Given the description of an element on the screen output the (x, y) to click on. 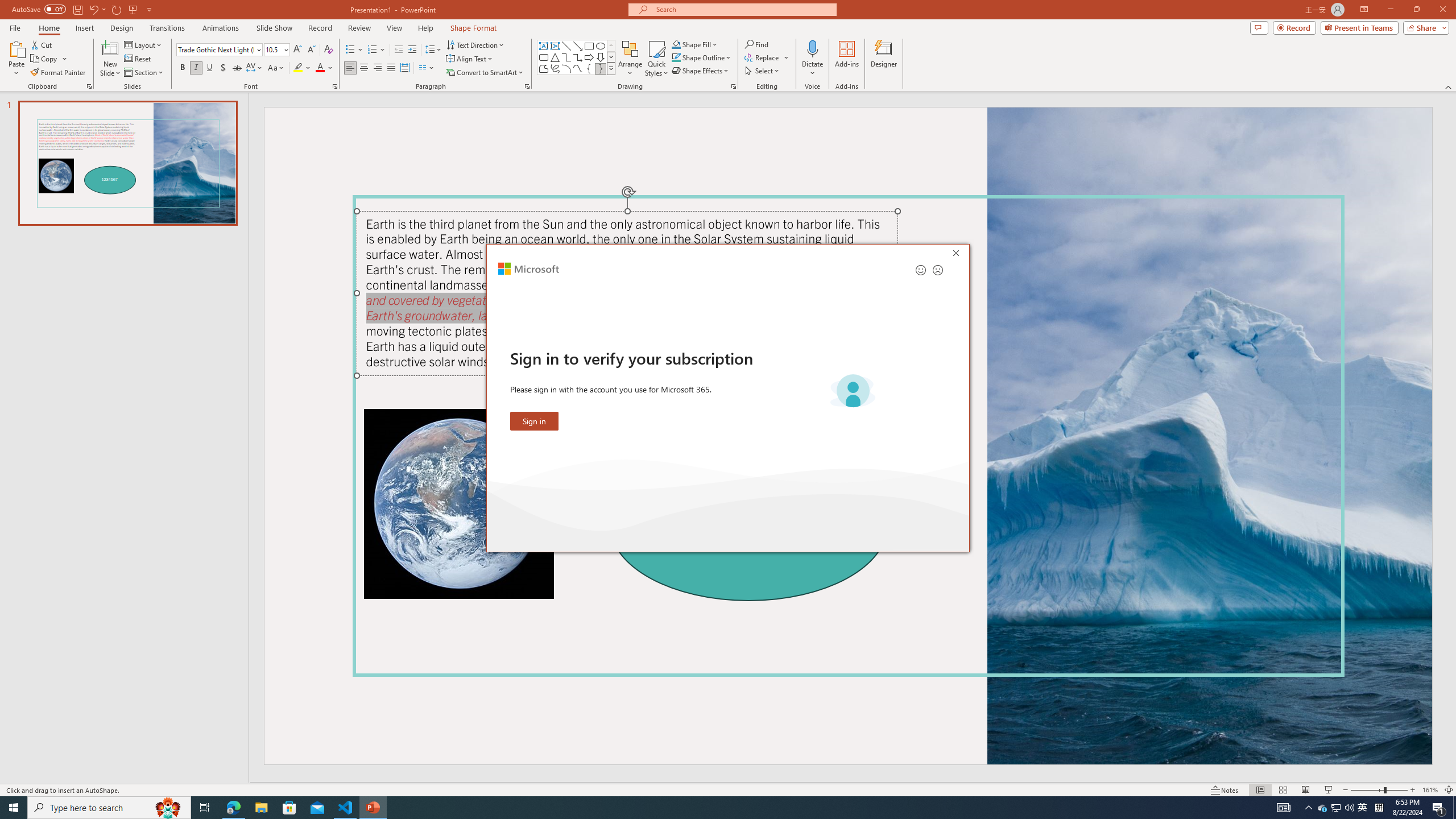
Text Highlight Color Yellow (297, 67)
Arc (566, 68)
Align Text (470, 58)
Shape Outline (701, 56)
Clear Formatting (327, 49)
Strikethrough (237, 67)
